Given the description of an element on the screen output the (x, y) to click on. 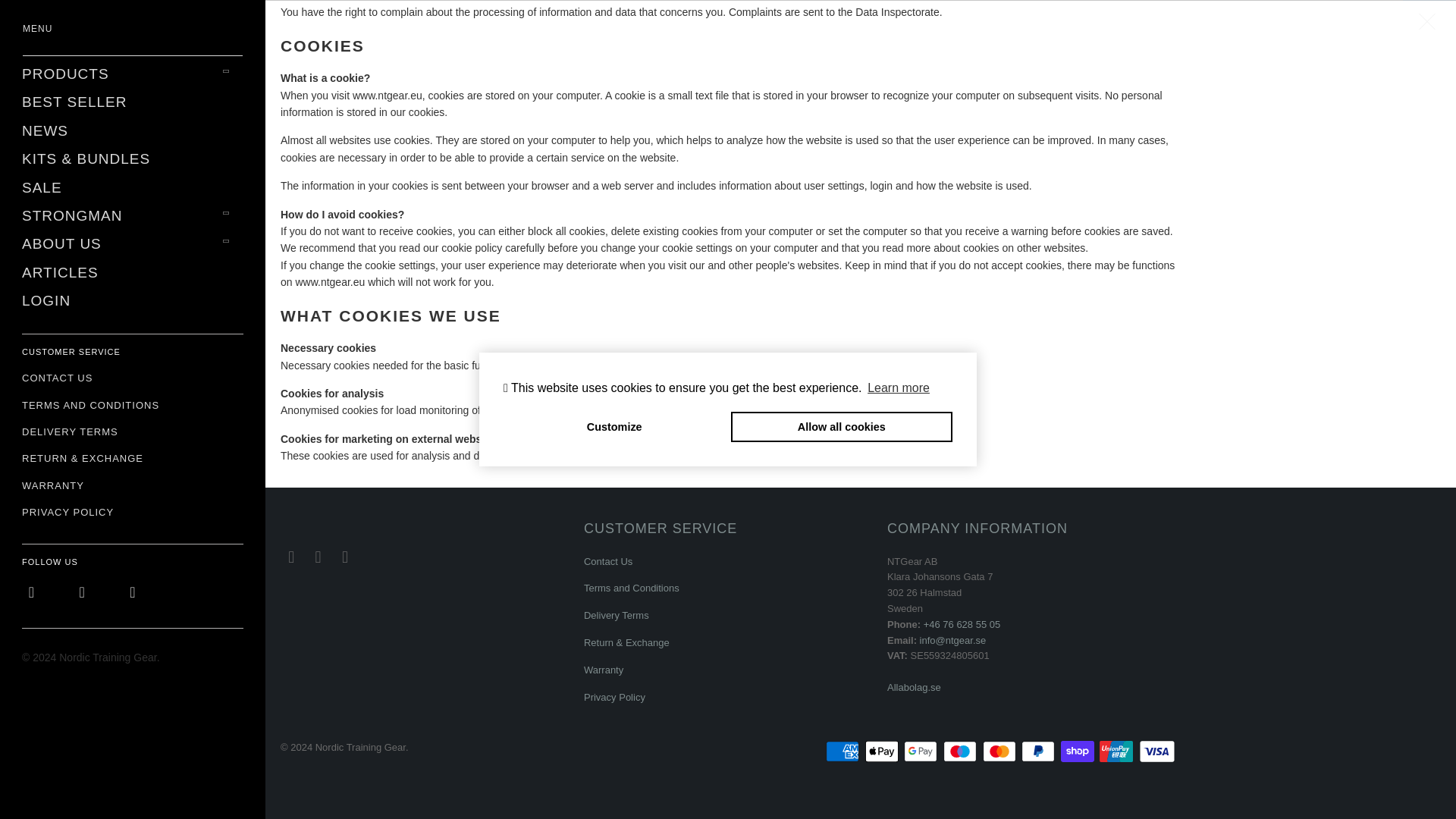
Nordic Training Gear on Instagram (318, 556)
PayPal (1040, 751)
Union Pay (1117, 751)
Visa (1156, 751)
Nordic Training Gear on Facebook (291, 556)
Google Pay (922, 751)
Apple Pay (882, 751)
American Express (843, 751)
Email Nordic Training Gear (345, 556)
Maestro (961, 751)
Shop Pay (1079, 751)
Mastercard (1000, 751)
